Given the description of an element on the screen output the (x, y) to click on. 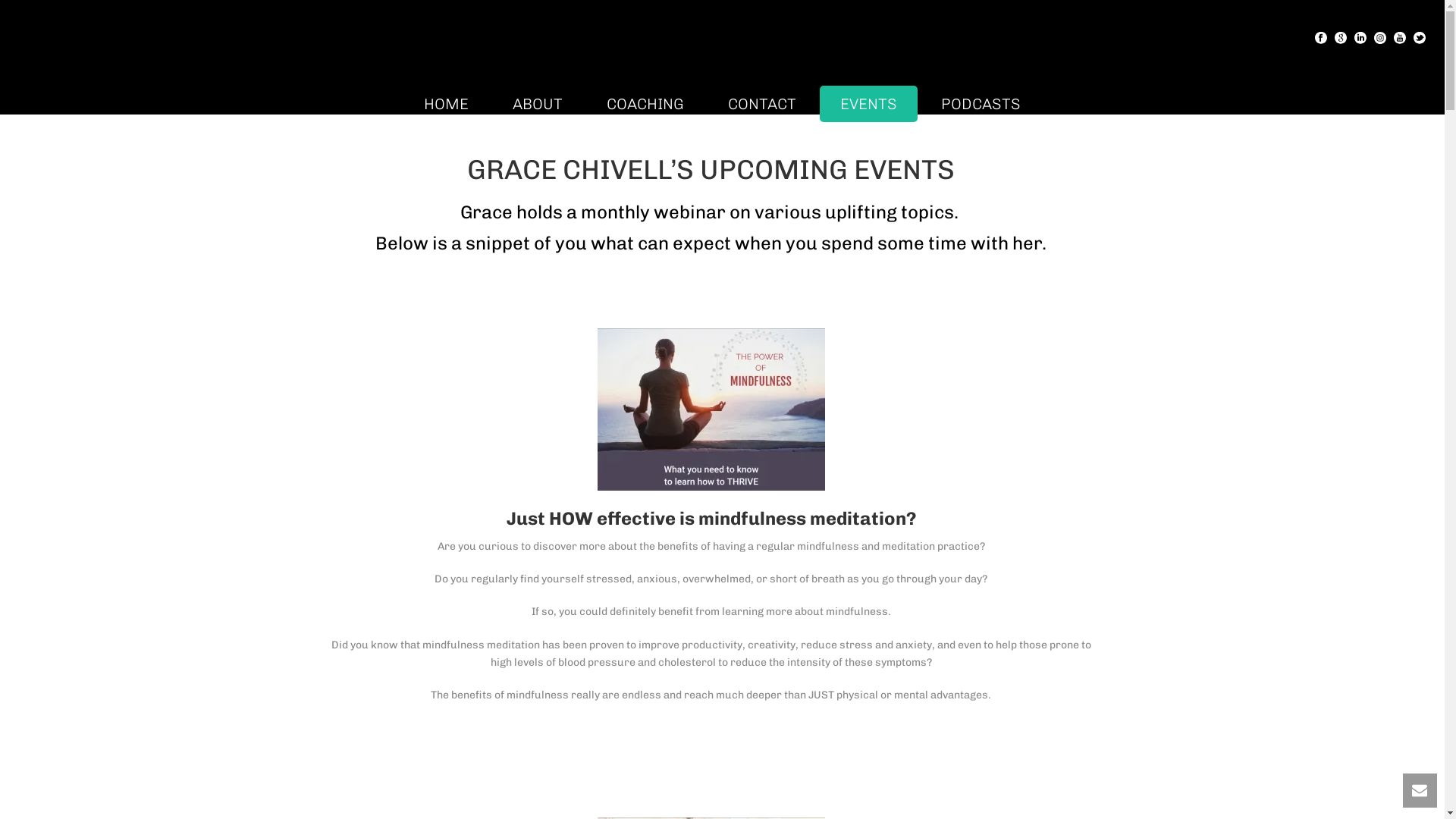
HOME Element type: text (446, 103)
ABOUT Element type: text (537, 103)
EVENTS Element type: text (868, 103)
PODCASTS Element type: text (980, 103)
COACHING Element type: text (645, 103)
CONTACT Element type: text (761, 103)
